Given the description of an element on the screen output the (x, y) to click on. 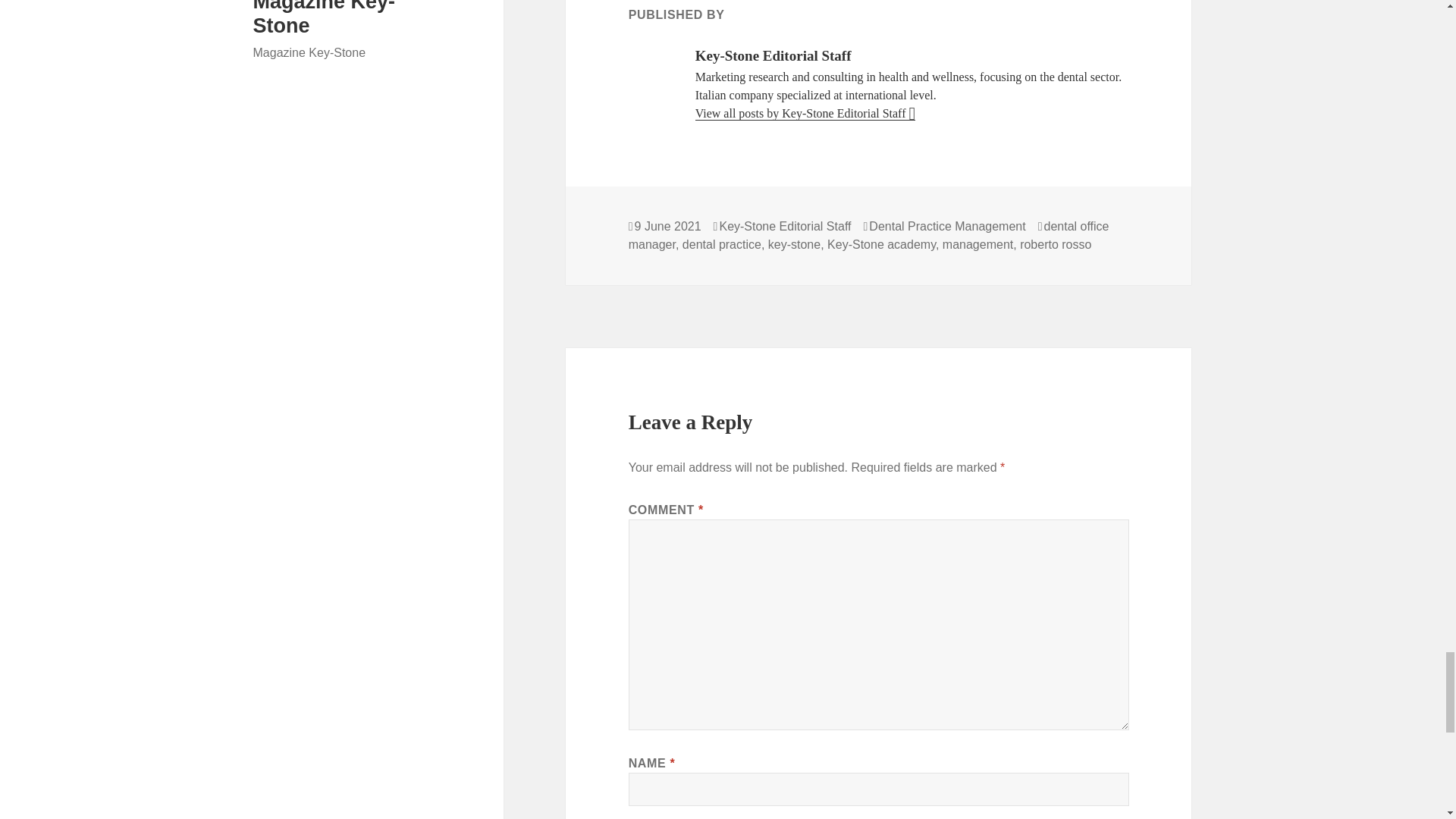
key-stone (794, 244)
dental office manager (868, 235)
Key-Stone academy (881, 244)
Key-Stone Editorial Staff (784, 226)
Dental Practice Management (947, 226)
View all posts by Key-Stone Editorial Staff (805, 113)
dental practice (721, 244)
management (977, 244)
9 June 2021 (667, 226)
roberto rosso (1055, 244)
